Given the description of an element on the screen output the (x, y) to click on. 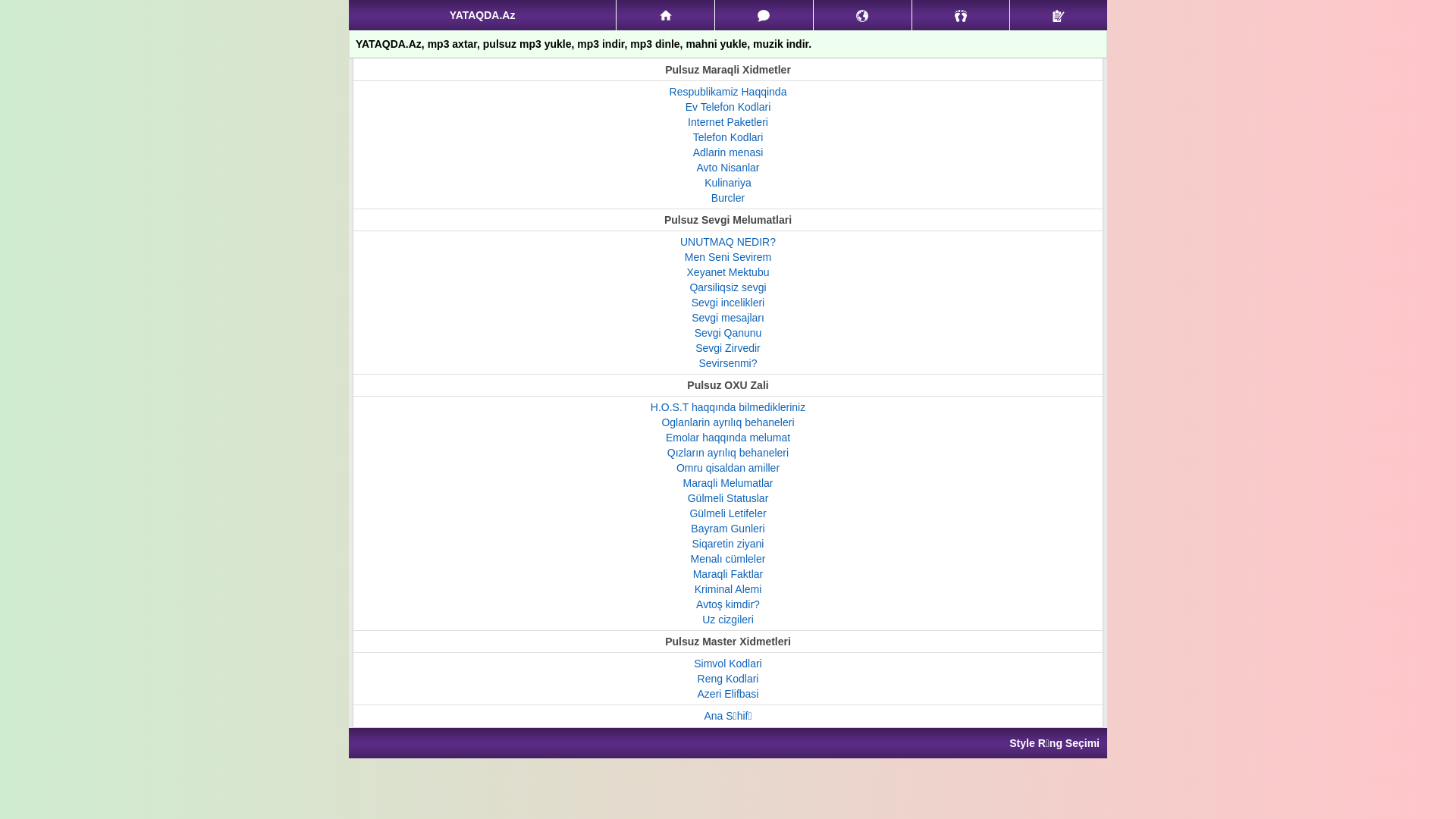
Xeyanet Mektubu Element type: text (728, 272)
Men Seni Sevirem Element type: text (727, 257)
Sevgi Zirvedir Element type: text (727, 348)
Bayram Gunleri Element type: text (727, 528)
Telefon Kodlari Element type: text (728, 137)
Siqaretin ziyani Element type: text (728, 543)
Avto Nisanlar Element type: text (727, 167)
Bildirisler Element type: hover (862, 15)
Mesajlar Element type: hover (763, 15)
Ev Telefon Kodlari Element type: text (728, 106)
Internet Paketleri Element type: text (727, 122)
Omru qisaldan amiller Element type: text (727, 467)
Azeri Elifbasi Element type: text (728, 693)
Maraqli Faktlar Element type: text (728, 573)
Uz cizgileri Element type: text (727, 619)
Respublikamiz Haqqinda Element type: text (728, 91)
Sevirsenmi? Element type: text (727, 363)
UNUTMAQ NEDIR? Element type: text (727, 241)
Qarsiliqsiz sevgi Element type: text (727, 287)
Qonaqlar Element type: hover (961, 15)
Simvol Kodlari Element type: text (727, 663)
Kriminal Alemi Element type: text (728, 589)
Maraqli Melumatlar Element type: text (727, 482)
Burcler Element type: text (727, 197)
Reng Kodlari Element type: text (728, 678)
Adlarin menasi Element type: text (728, 152)
Qeydiyyat Element type: hover (1058, 15)
Kulinariya Element type: text (727, 182)
Sevgi Qanunu Element type: text (728, 332)
Sevgi incelikleri Element type: text (727, 302)
